Given the description of an element on the screen output the (x, y) to click on. 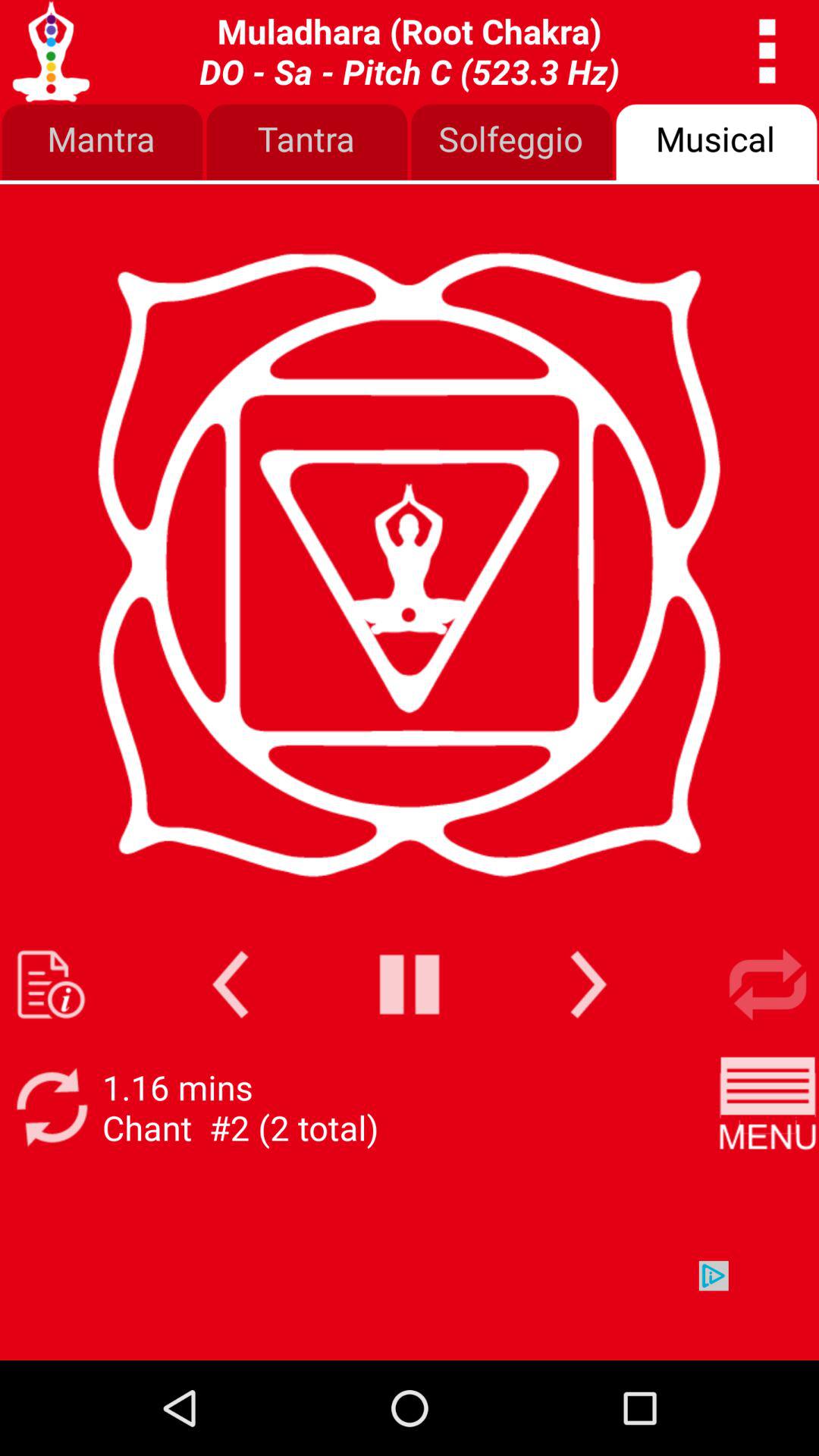
turn off the app next to 1 17 mins app (767, 1107)
